Given the description of an element on the screen output the (x, y) to click on. 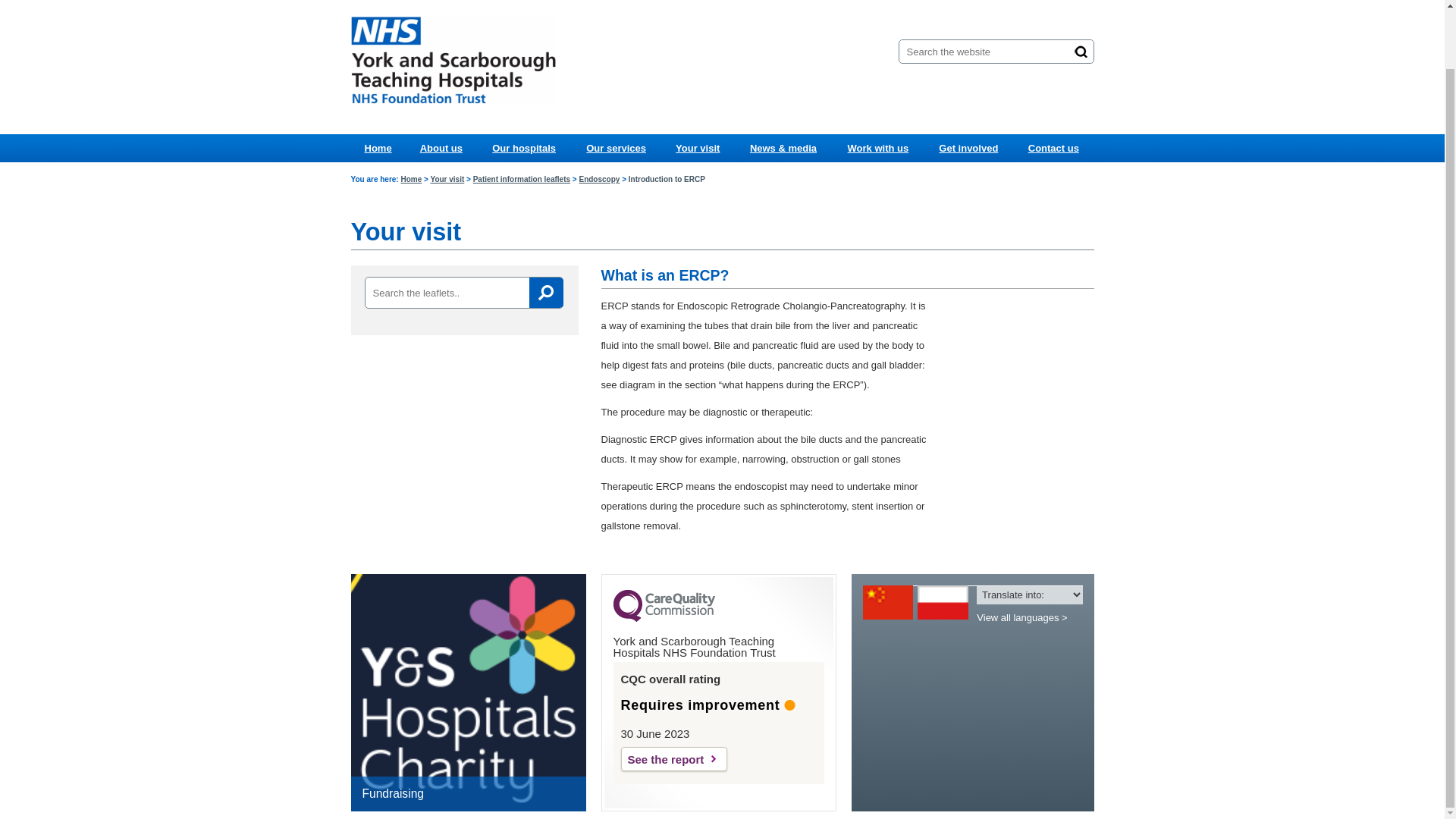
Search (1080, 51)
Our services (615, 148)
Contact us (1053, 148)
Patient information leaflets (521, 179)
Endoscopy (599, 179)
CQC Logo (663, 617)
About us (441, 148)
See the report (673, 758)
Get involved (968, 148)
Home (411, 179)
